Given the description of an element on the screen output the (x, y) to click on. 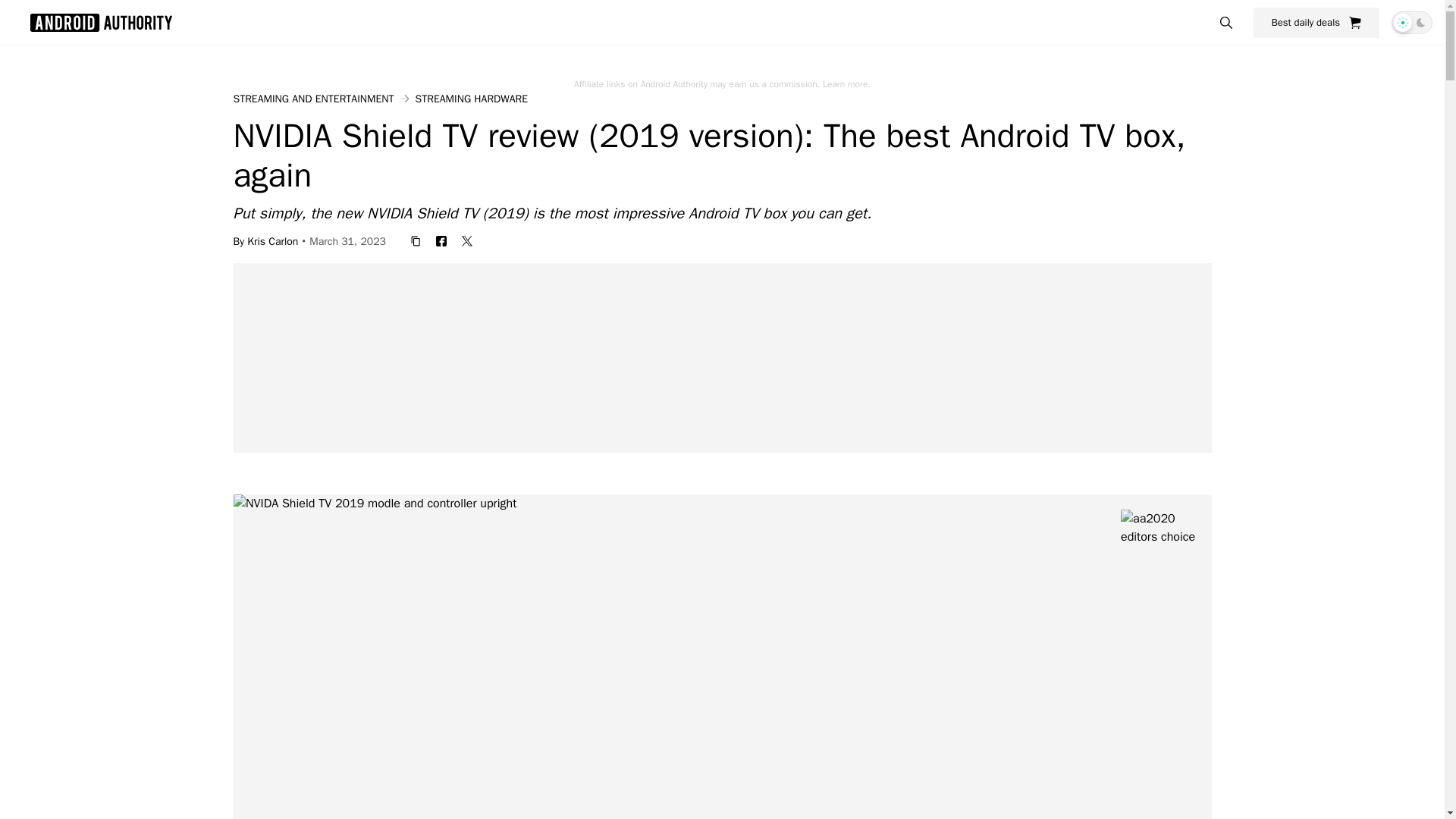
twitter (467, 240)
Kris Carlon (272, 241)
facebook (441, 240)
STREAMING AND ENTERTAINMENT (313, 98)
STREAMING HARDWARE (471, 98)
Best daily deals (1315, 22)
Learn more. (846, 83)
